Given the description of an element on the screen output the (x, y) to click on. 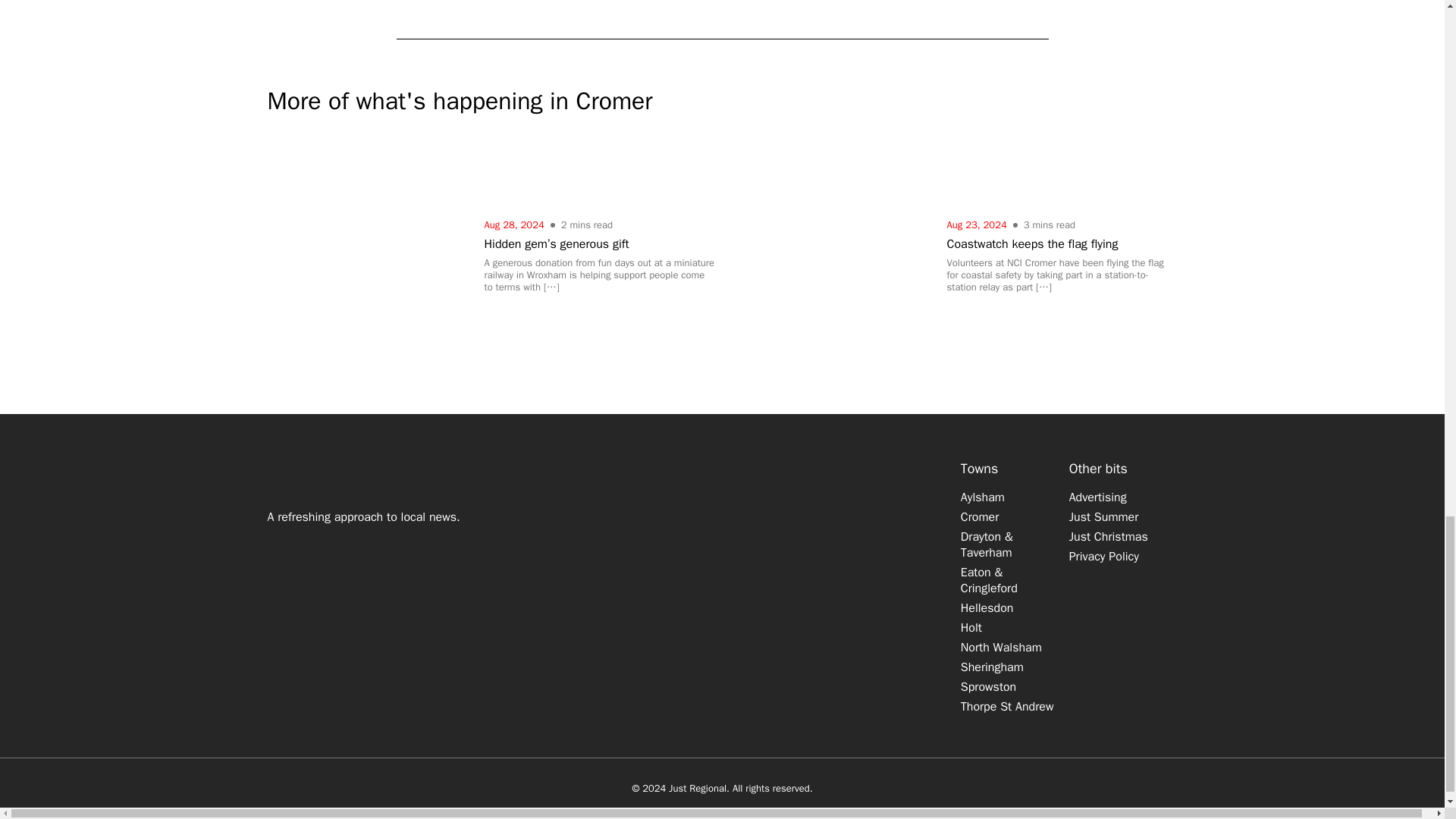
Cromer (979, 516)
Aylsham (982, 497)
Hellesdon (986, 607)
Holt (970, 627)
